Given the description of an element on the screen output the (x, y) to click on. 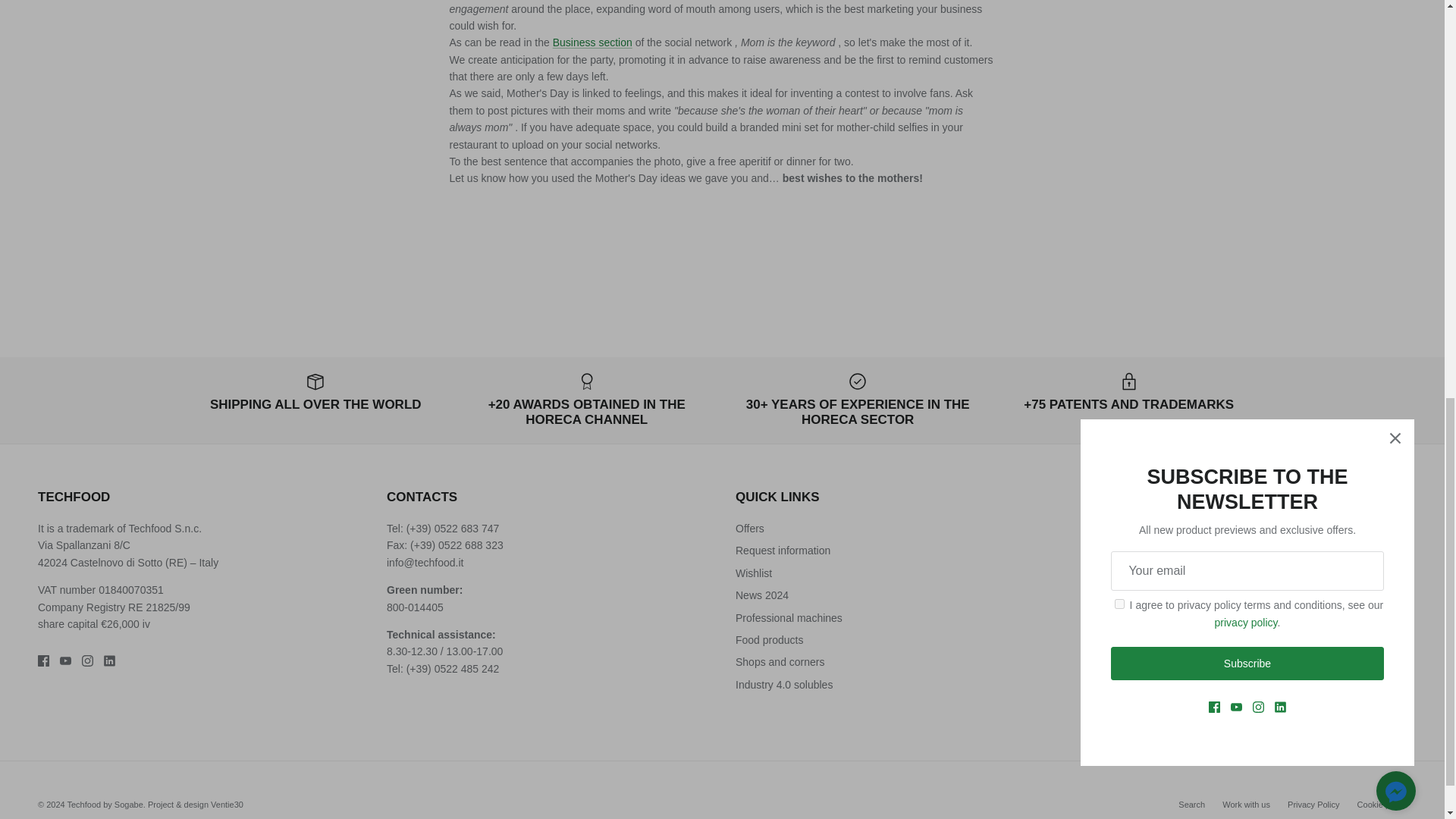
facebook business (592, 42)
tel:800014405 (415, 607)
Youtube (65, 660)
Facebook (43, 660)
on (1094, 628)
tel:0522 683 747 (466, 528)
Instagram (87, 660)
